Given the description of an element on the screen output the (x, y) to click on. 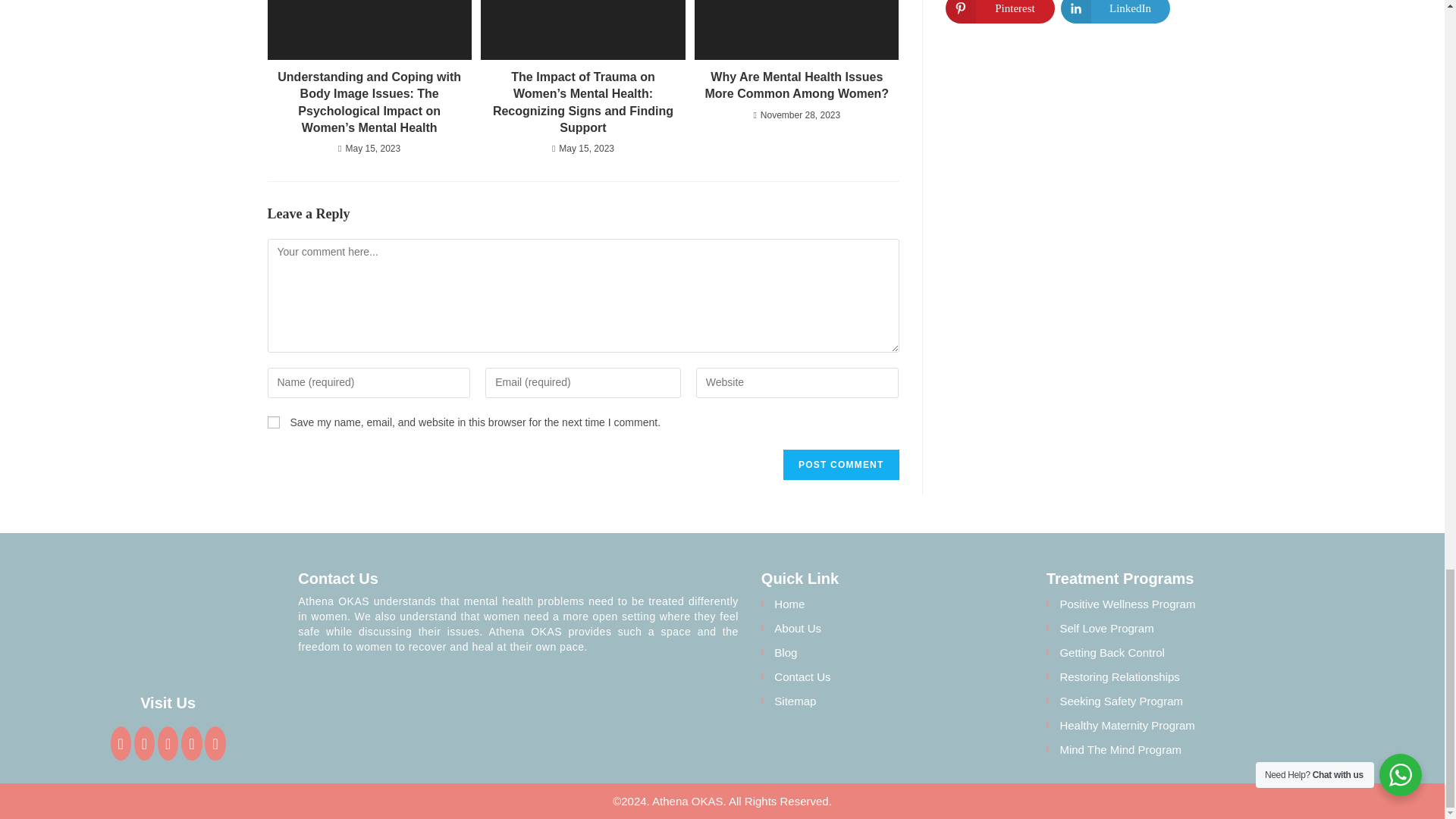
Post Comment (840, 464)
yes (272, 422)
